Given the description of an element on the screen output the (x, y) to click on. 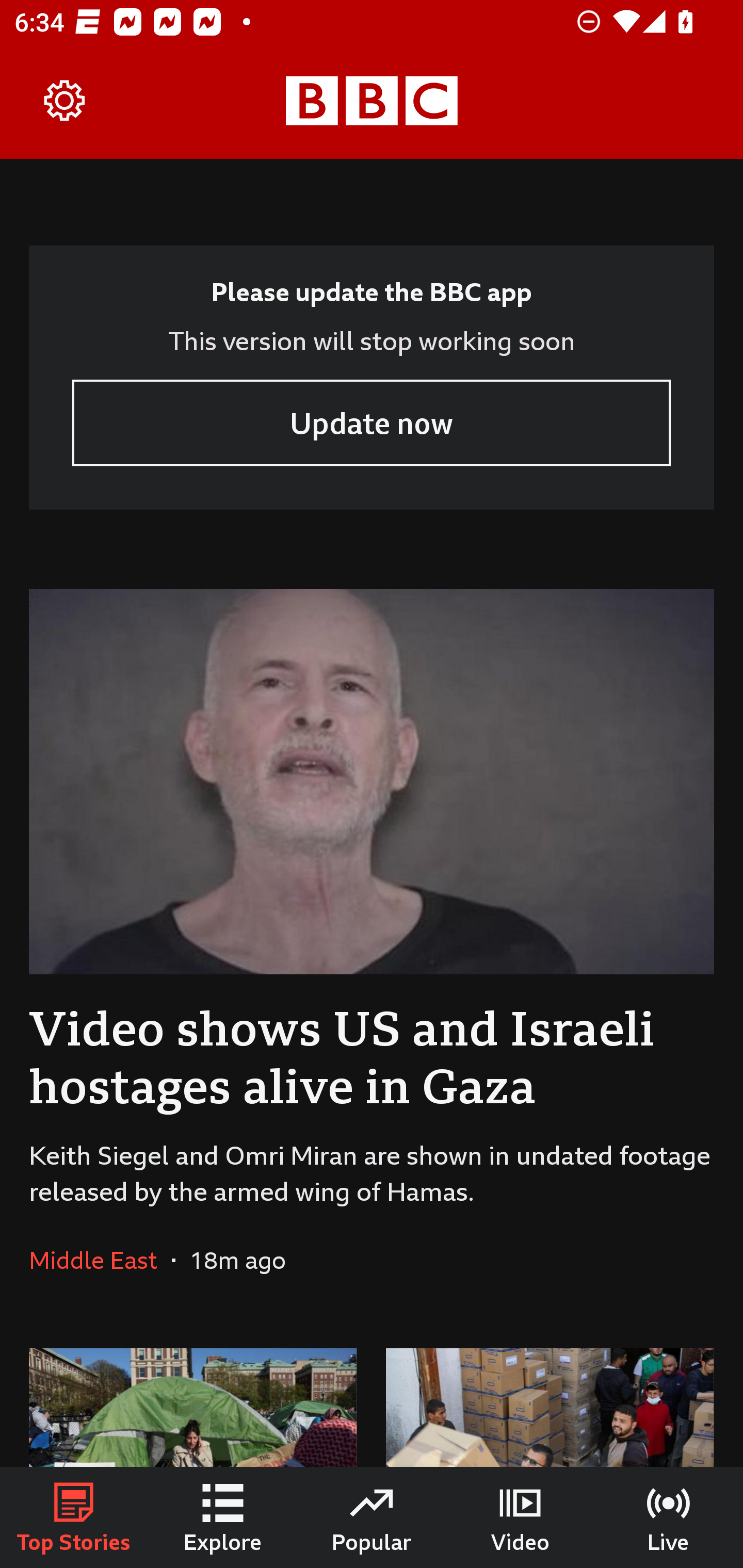
Settings (64, 100)
Update now (371, 422)
Middle East In the section Middle East (99, 1259)
Explore (222, 1517)
Popular (371, 1517)
Video (519, 1517)
Live (668, 1517)
